Given the description of an element on the screen output the (x, y) to click on. 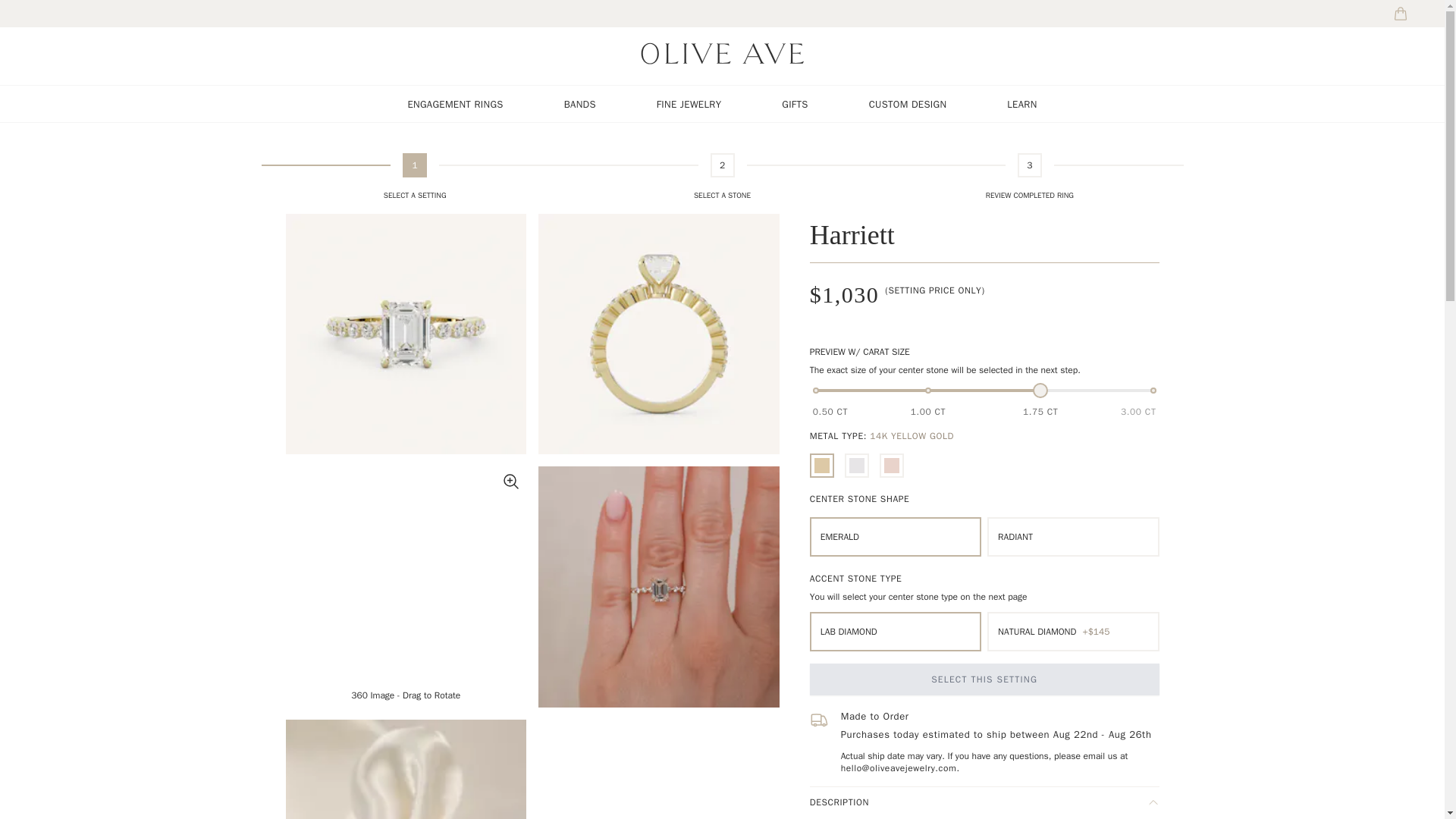
360 Product Video (405, 586)
ENGAGEMENT RINGS (454, 103)
